Given the description of an element on the screen output the (x, y) to click on. 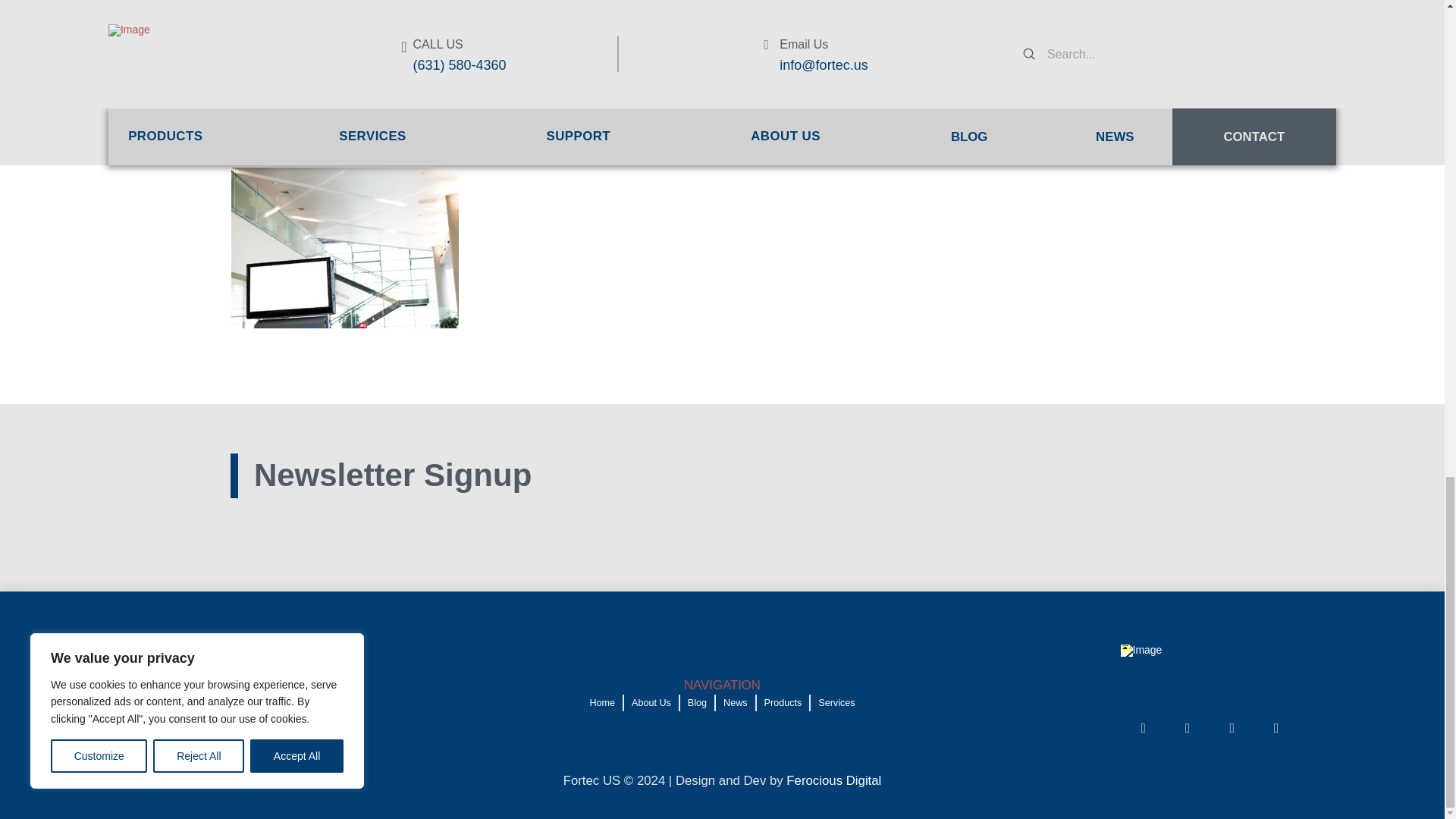
Fortec US (480, 20)
